Given the description of an element on the screen output the (x, y) to click on. 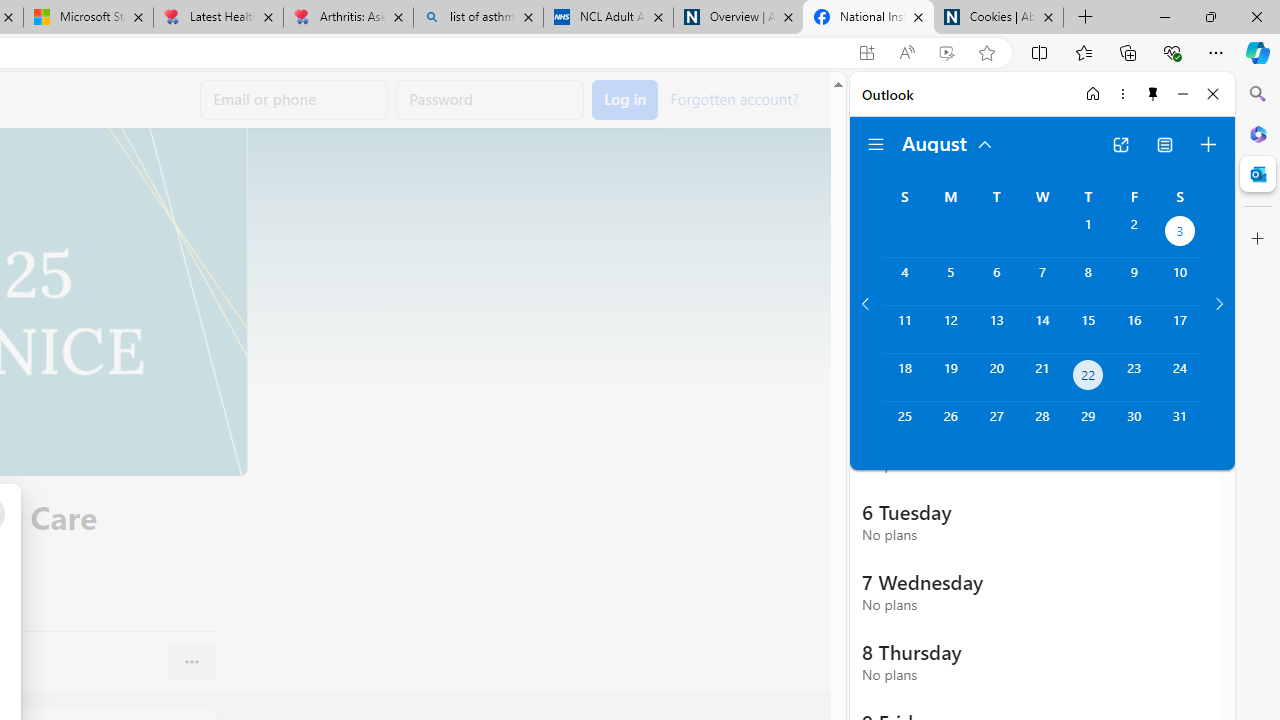
Monday, August 12, 2024.  (950, 329)
Wednesday, August 28, 2024.  (1042, 425)
Friday, August 23, 2024.  (1134, 377)
August (948, 141)
Wednesday, August 14, 2024.  (1042, 329)
Saturday, August 17, 2024.  (1180, 329)
